Given the description of an element on the screen output the (x, y) to click on. 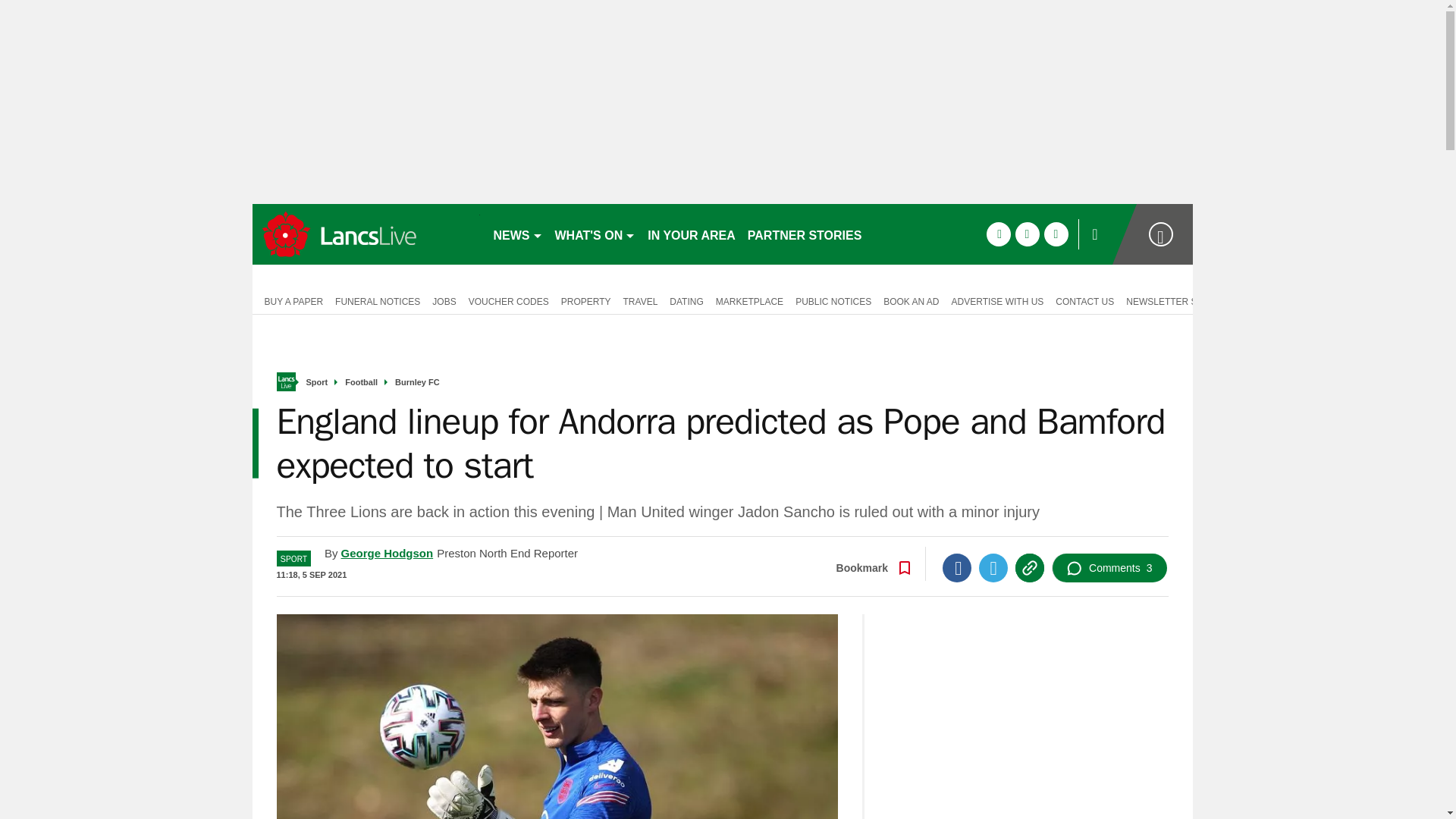
JOBS (443, 300)
Comments (1108, 567)
Twitter (992, 567)
Facebook (956, 567)
PUBLIC NOTICES (833, 300)
DATING (686, 300)
BUY A PAPER (290, 300)
PARTNER STORIES (804, 233)
facebook (997, 233)
accrington (365, 233)
